Given the description of an element on the screen output the (x, y) to click on. 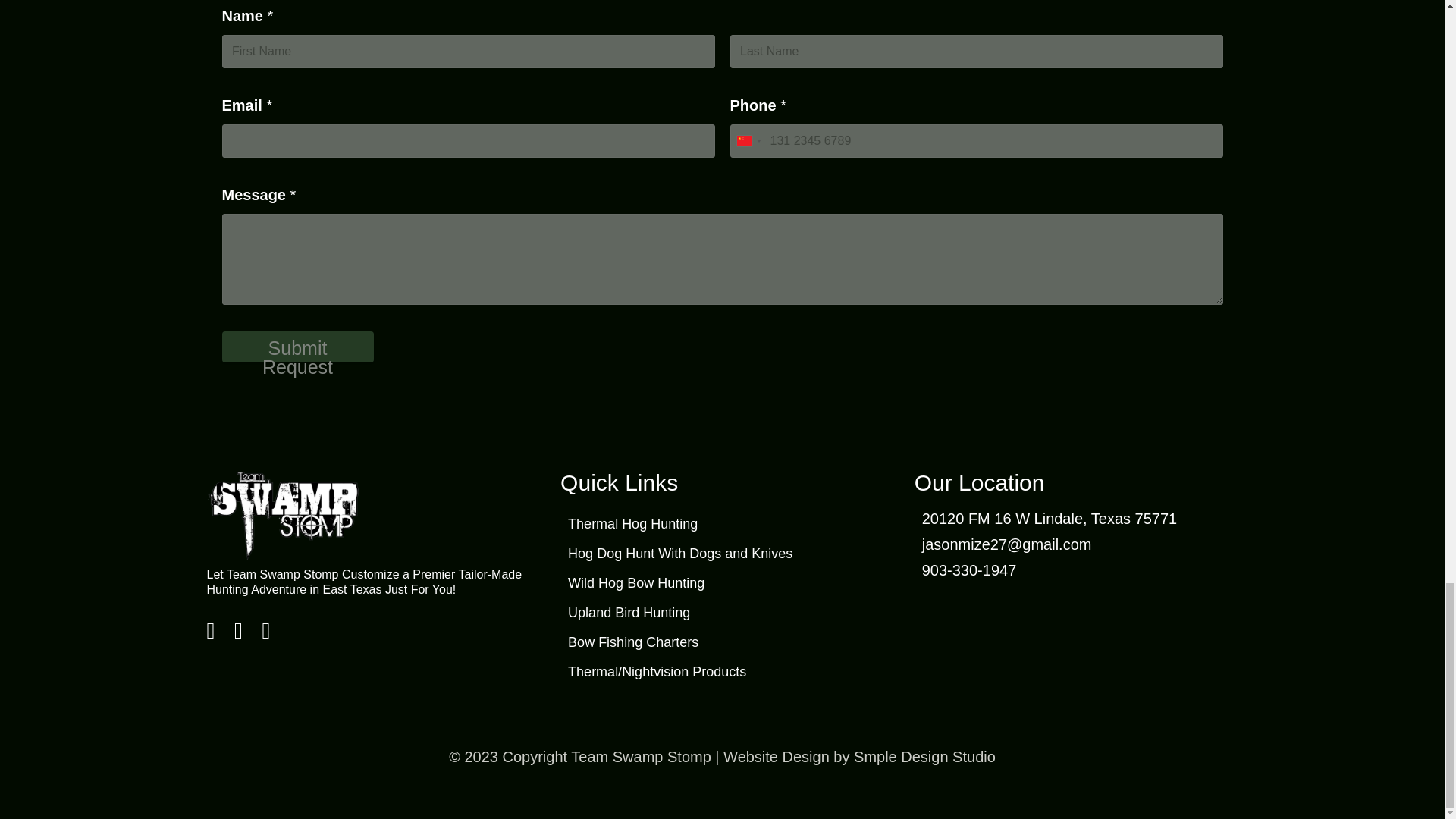
logo (282, 515)
